Given the description of an element on the screen output the (x, y) to click on. 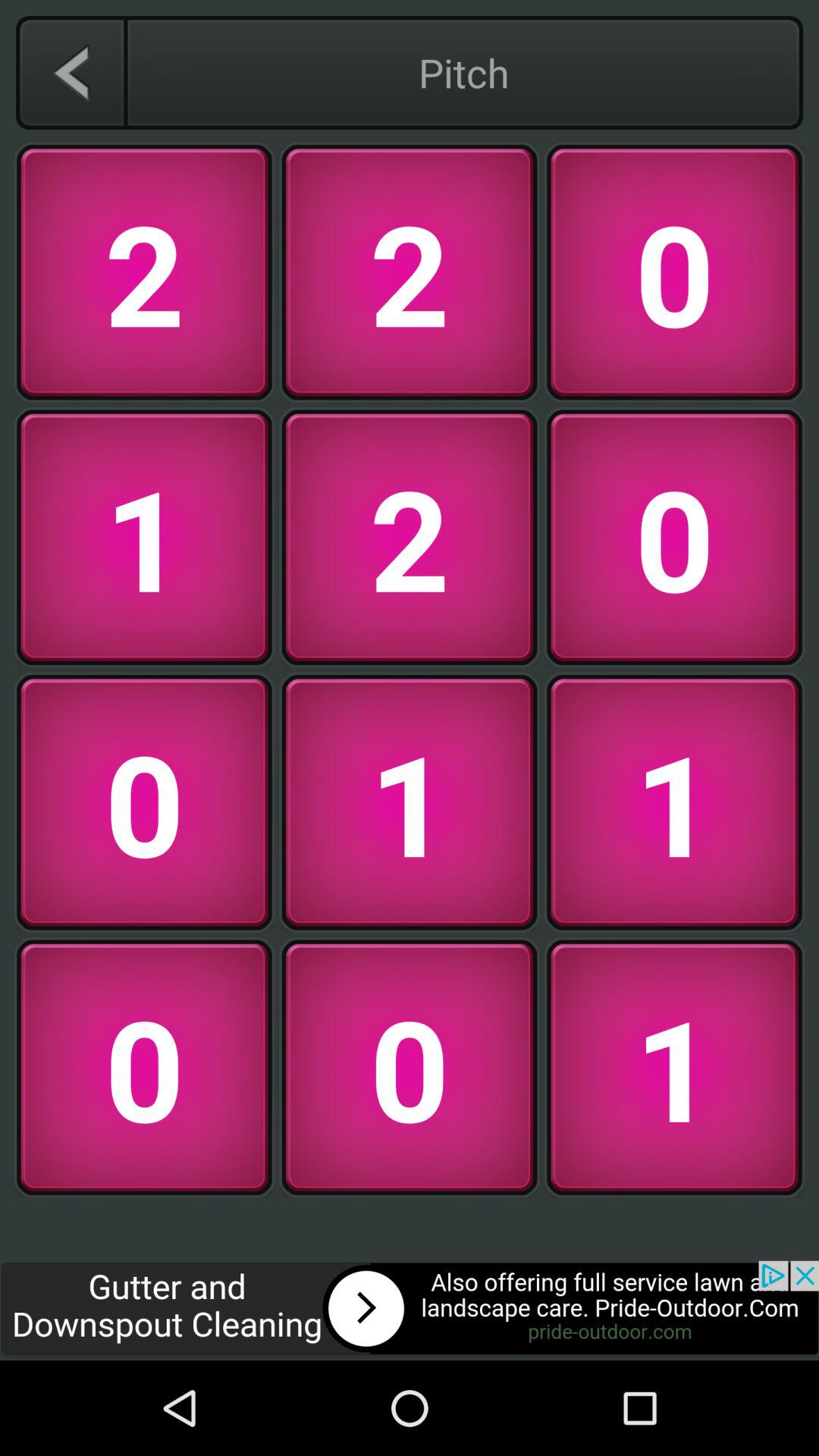
turn on the item next to pitch (70, 72)
